Given the description of an element on the screen output the (x, y) to click on. 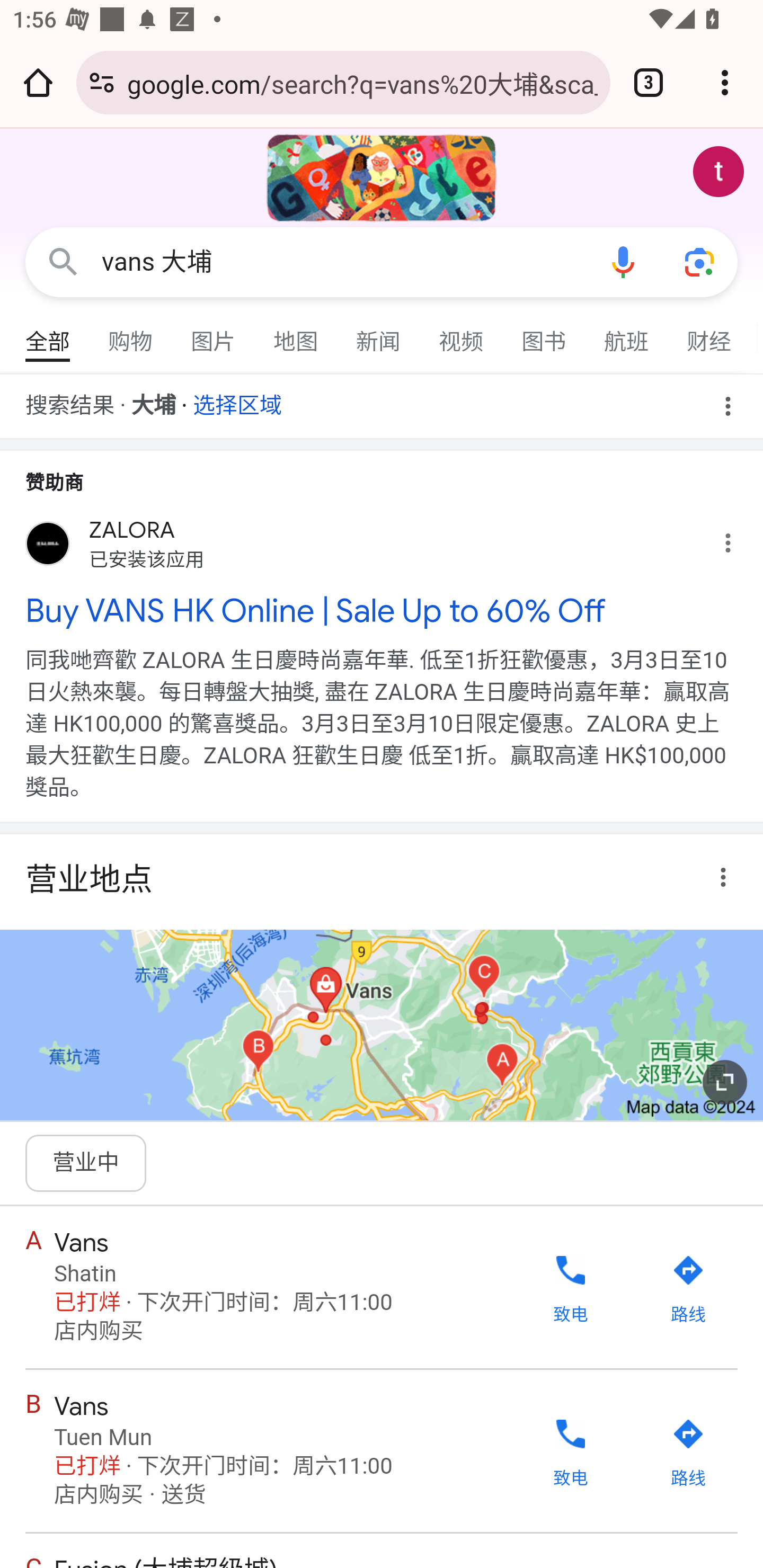
Open the home page (38, 82)
Connection is secure (101, 82)
Switch or close tabs (648, 82)
Customize and control Google Chrome (724, 82)
2024 年国际妇女节 (381, 177)
Google 账号： test appium (testappium002@gmail.com) (718, 171)
Google 搜索 (63, 262)
使用拍照功能或照片进行搜索 (699, 262)
vans 大埔 (343, 261)
购物 (131, 333)
图片 (213, 333)
地图 (296, 333)
新闻 (379, 333)
视频 (461, 333)
图书 (544, 333)
航班 (627, 333)
财经 (709, 333)
选择区域 (237, 399)
为什么会显示该广告？ (738, 538)
Buy VANS HK Online | Sale Up to 60% Off (381, 609)
关于这条结果的详细信息 (725, 876)
vans 大埔地图 (381, 1024)
营业中 (86, 1162)
致电 (570, 1286)
路线 (688, 1289)
致电 (570, 1449)
路线 (688, 1453)
